Given the description of an element on the screen output the (x, y) to click on. 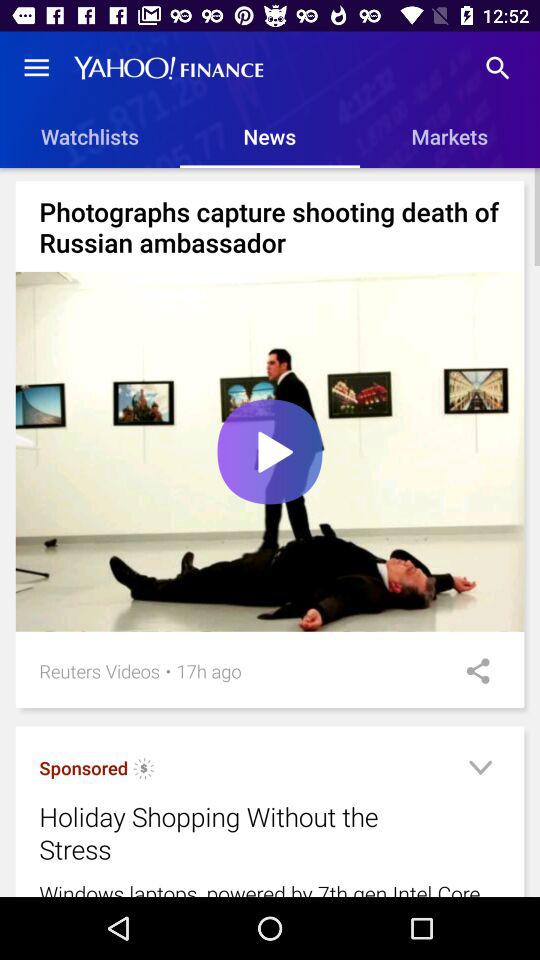
click the item below the photographs capture shooting (269, 451)
